Given the description of an element on the screen output the (x, y) to click on. 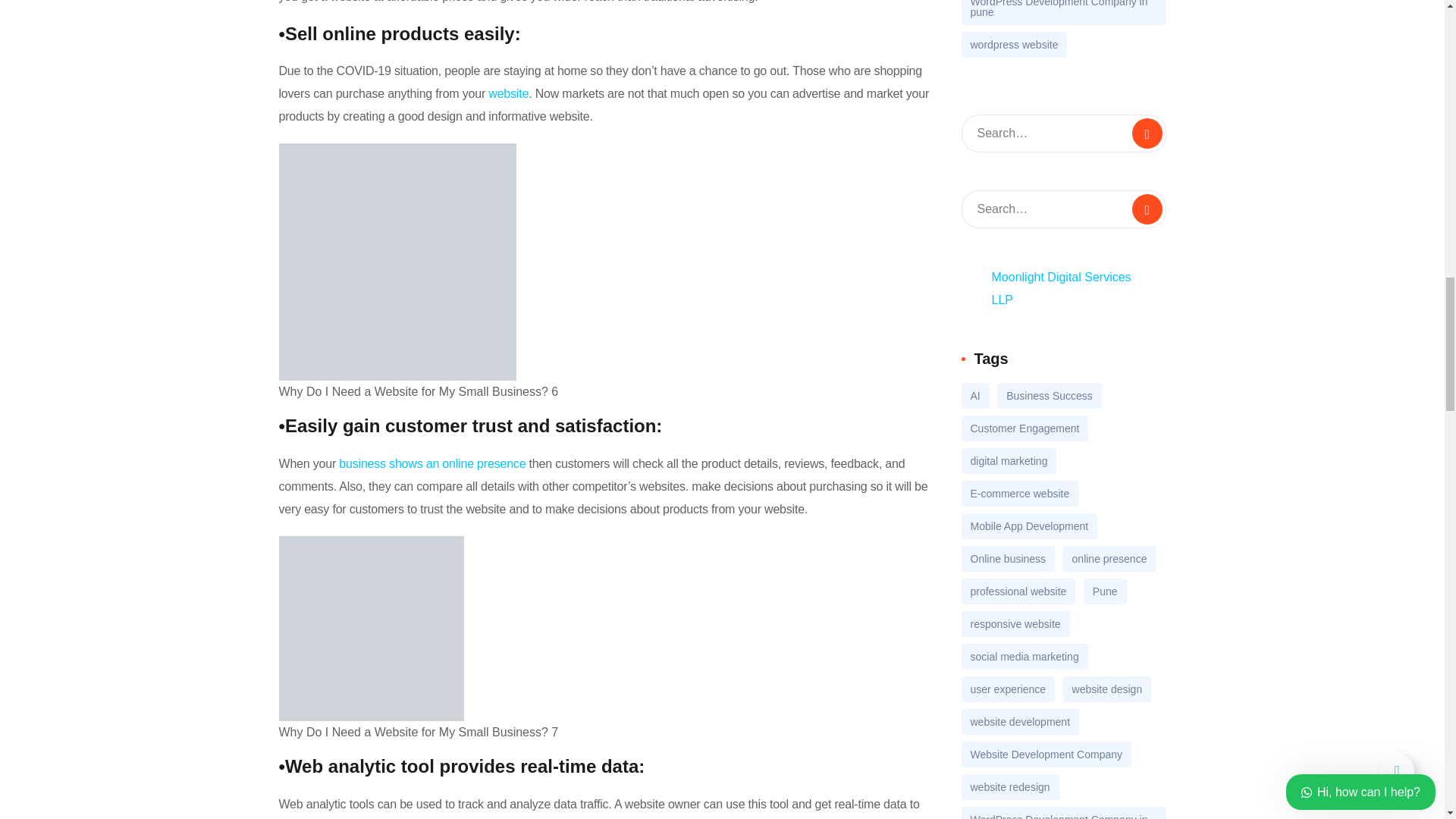
Why Do I Need a Website for My Small Business? 4 (371, 628)
Why Do I Need a Website for My Small Business? 3 (397, 261)
